Given the description of an element on the screen output the (x, y) to click on. 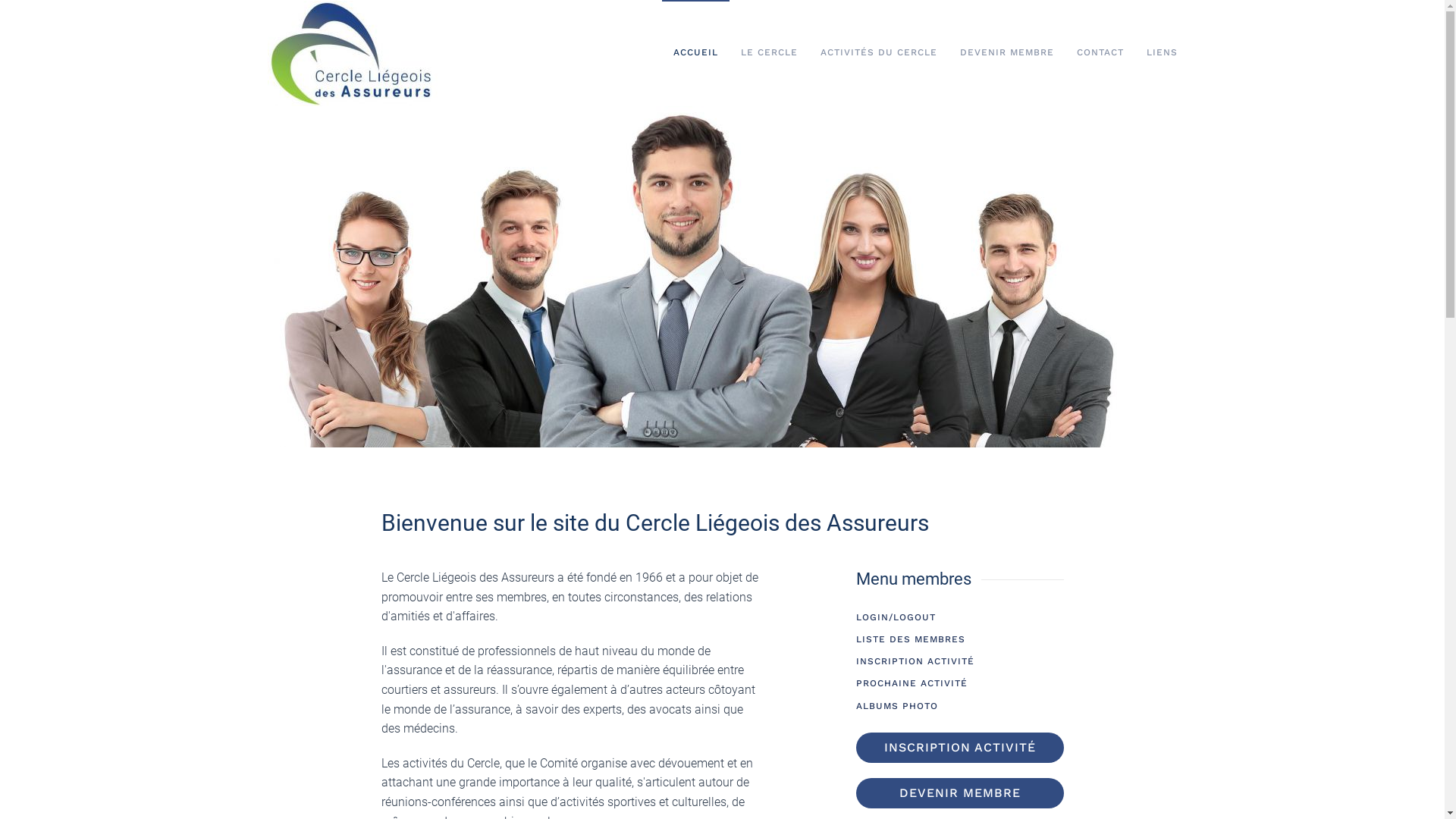
LE CERCLE Element type: text (769, 53)
LOGIN/LOGOUT Element type: text (959, 617)
LIENS Element type: text (1161, 53)
DEVENIR MEMBRE Element type: text (1005, 53)
DEVENIR MEMBRE Element type: text (959, 793)
ACCUEIL Element type: text (694, 53)
ALBUMS PHOTO Element type: text (959, 706)
CONTACT Element type: text (1099, 53)
LISTE DES MEMBRES Element type: text (959, 639)
